Given the description of an element on the screen output the (x, y) to click on. 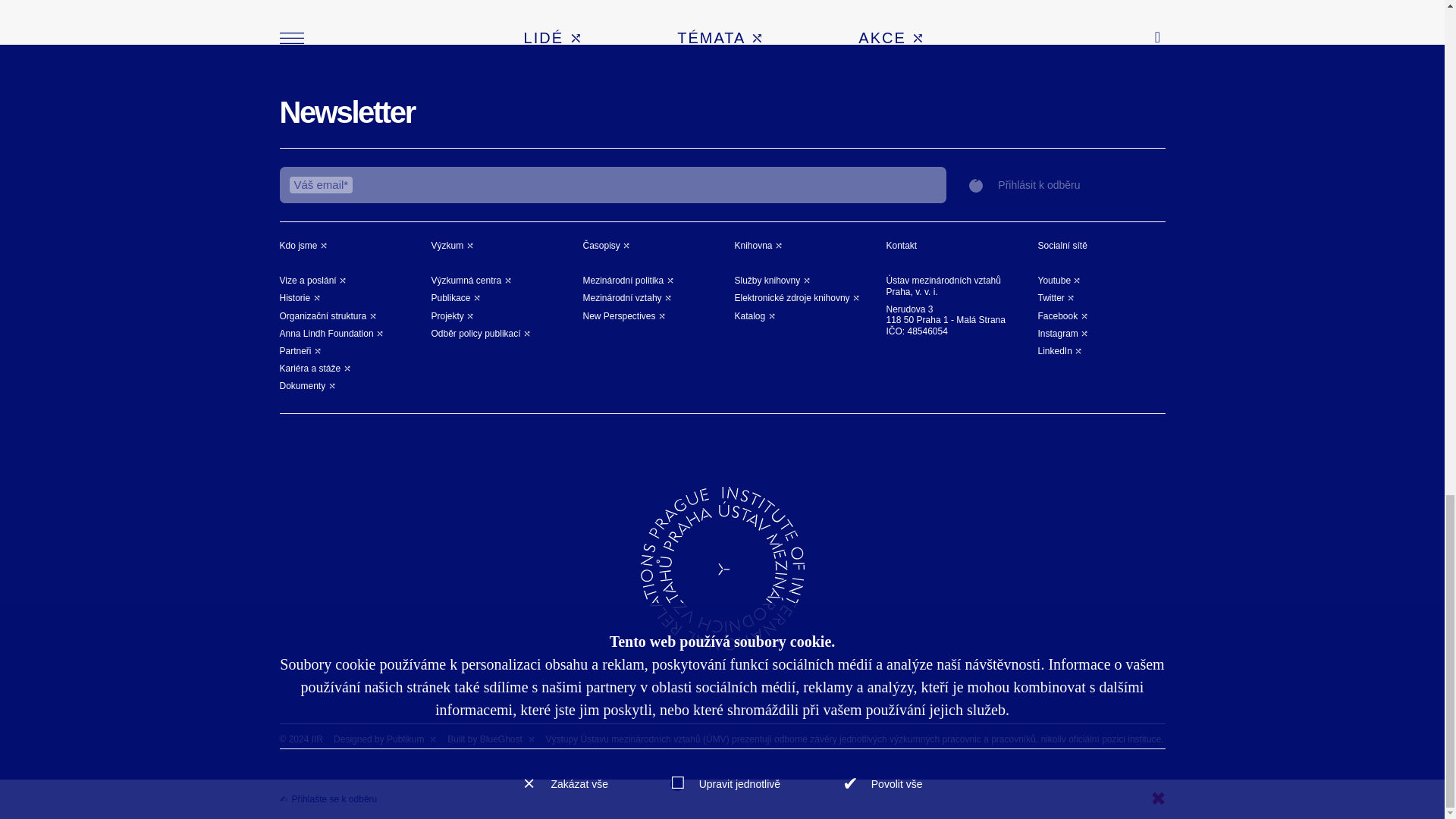
Kdo jsme (302, 245)
